Given the description of an element on the screen output the (x, y) to click on. 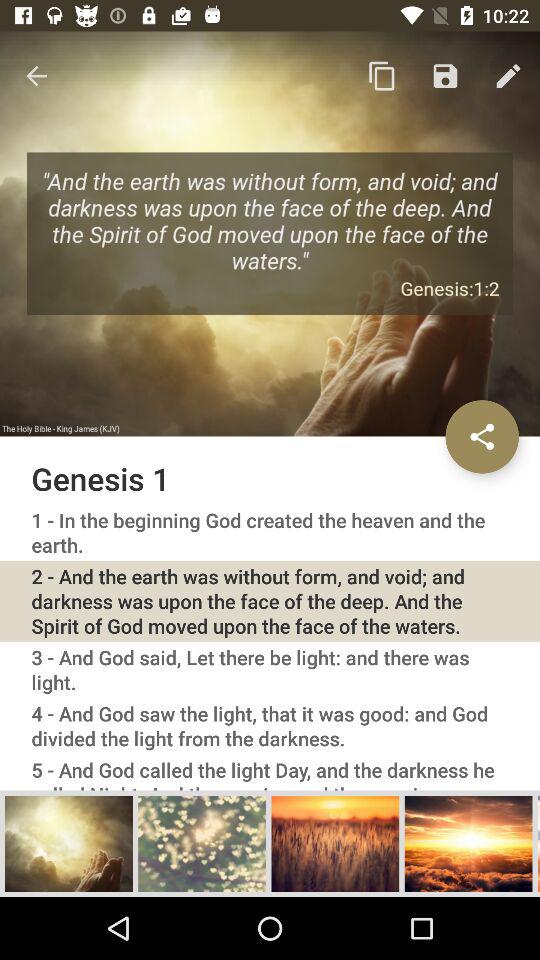
click the 1 in the item (270, 532)
